Given the description of an element on the screen output the (x, y) to click on. 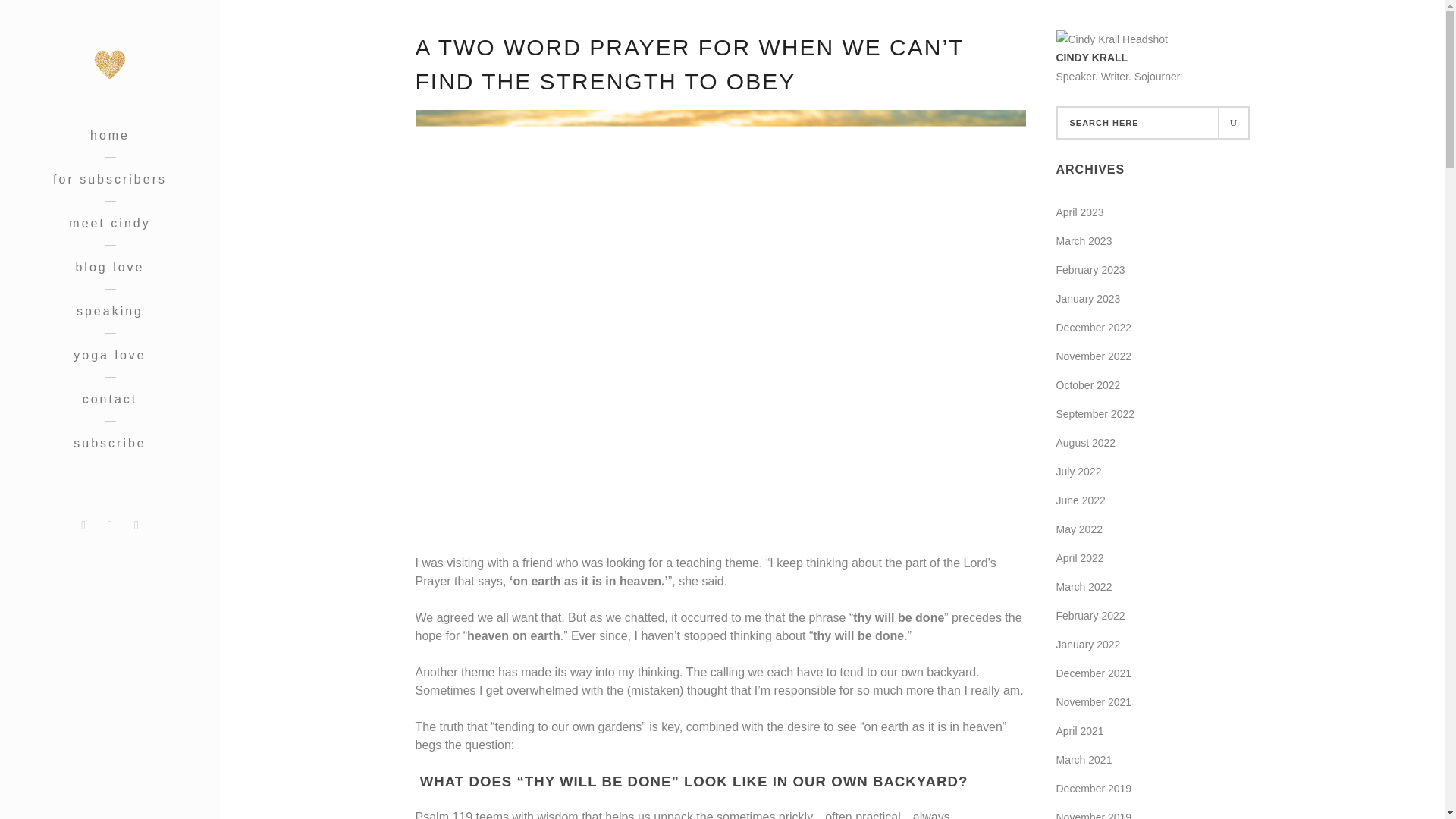
April 2023 (1079, 212)
November 2022 (1093, 356)
for subscribers (109, 179)
yoga love (109, 355)
blog love (109, 267)
December 2022 (1093, 327)
March 2023 (1083, 241)
meet cindy (109, 223)
October 2022 (1087, 385)
U (1232, 122)
